Given the description of an element on the screen output the (x, y) to click on. 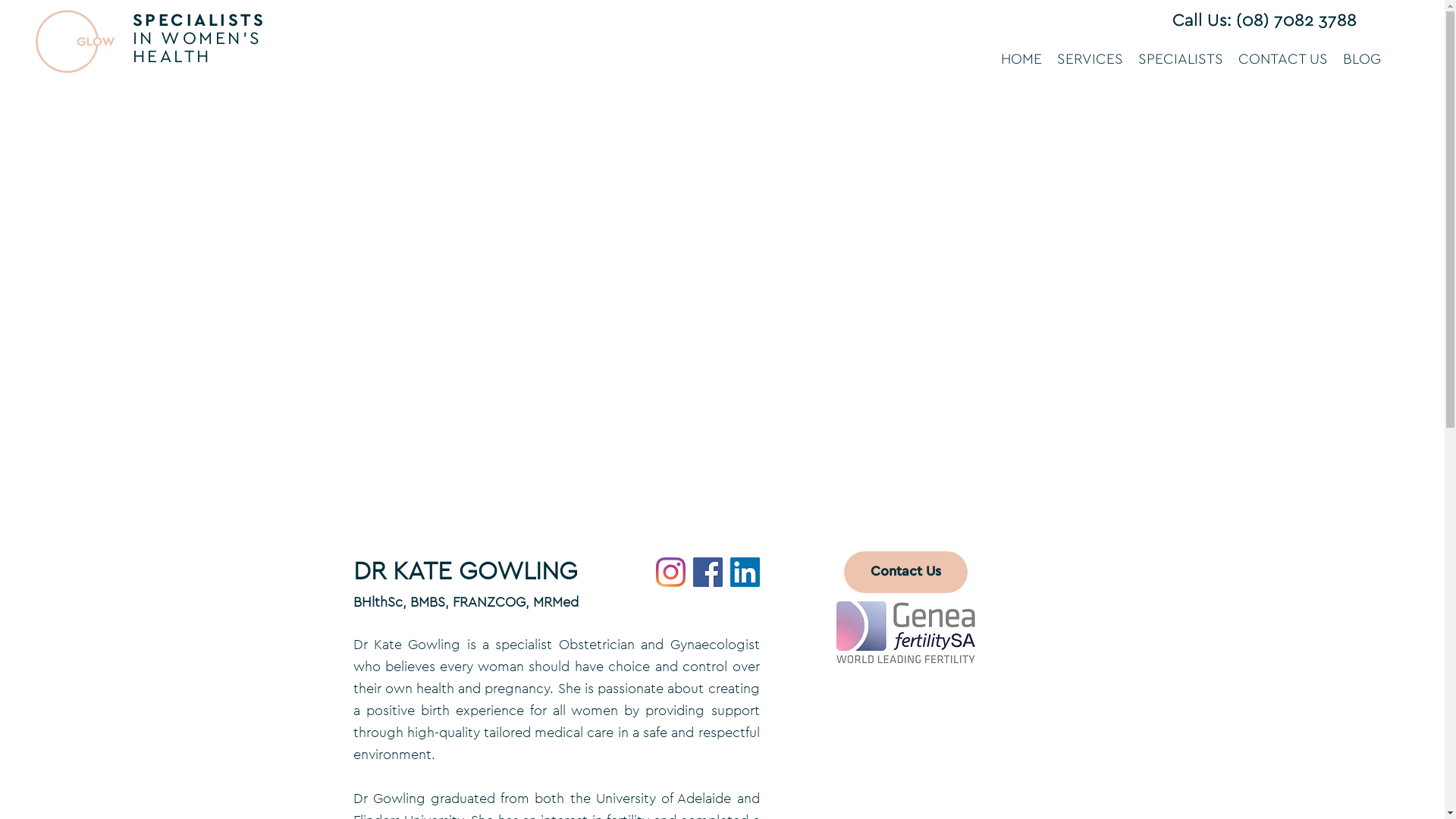
CONTACT US Element type: text (1282, 59)
Contact Us Element type: text (904, 572)
BLOG Element type: text (1361, 59)
SPECIALISTS Element type: text (1180, 59)
HOME Element type: text (1021, 59)
